Given the description of an element on the screen output the (x, y) to click on. 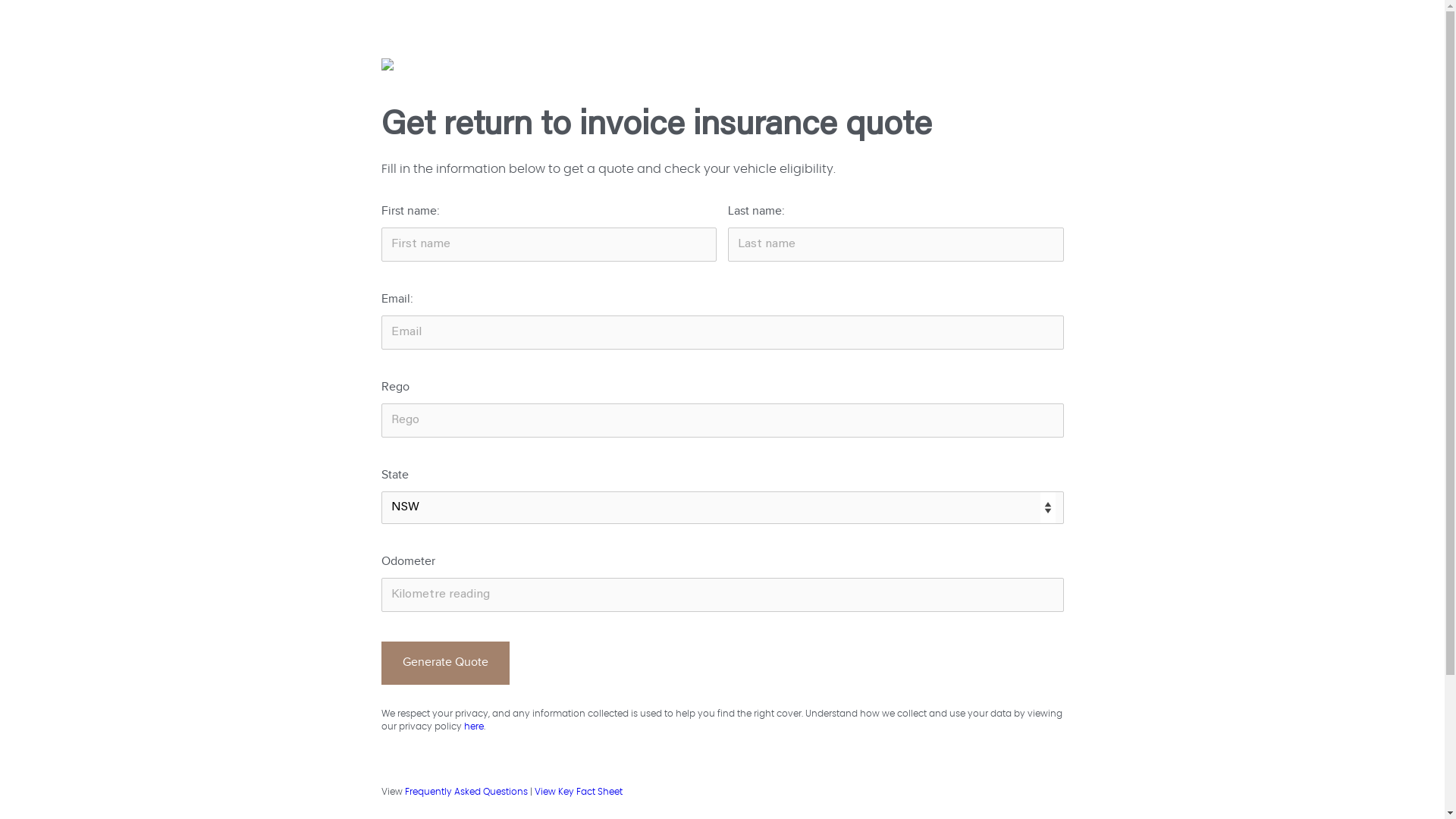
View Key Fact Sheet Element type: text (577, 791)
Generate Quote Element type: text (444, 662)
Frequently Asked Questions Element type: text (465, 791)
here Element type: text (473, 726)
